Given the description of an element on the screen output the (x, y) to click on. 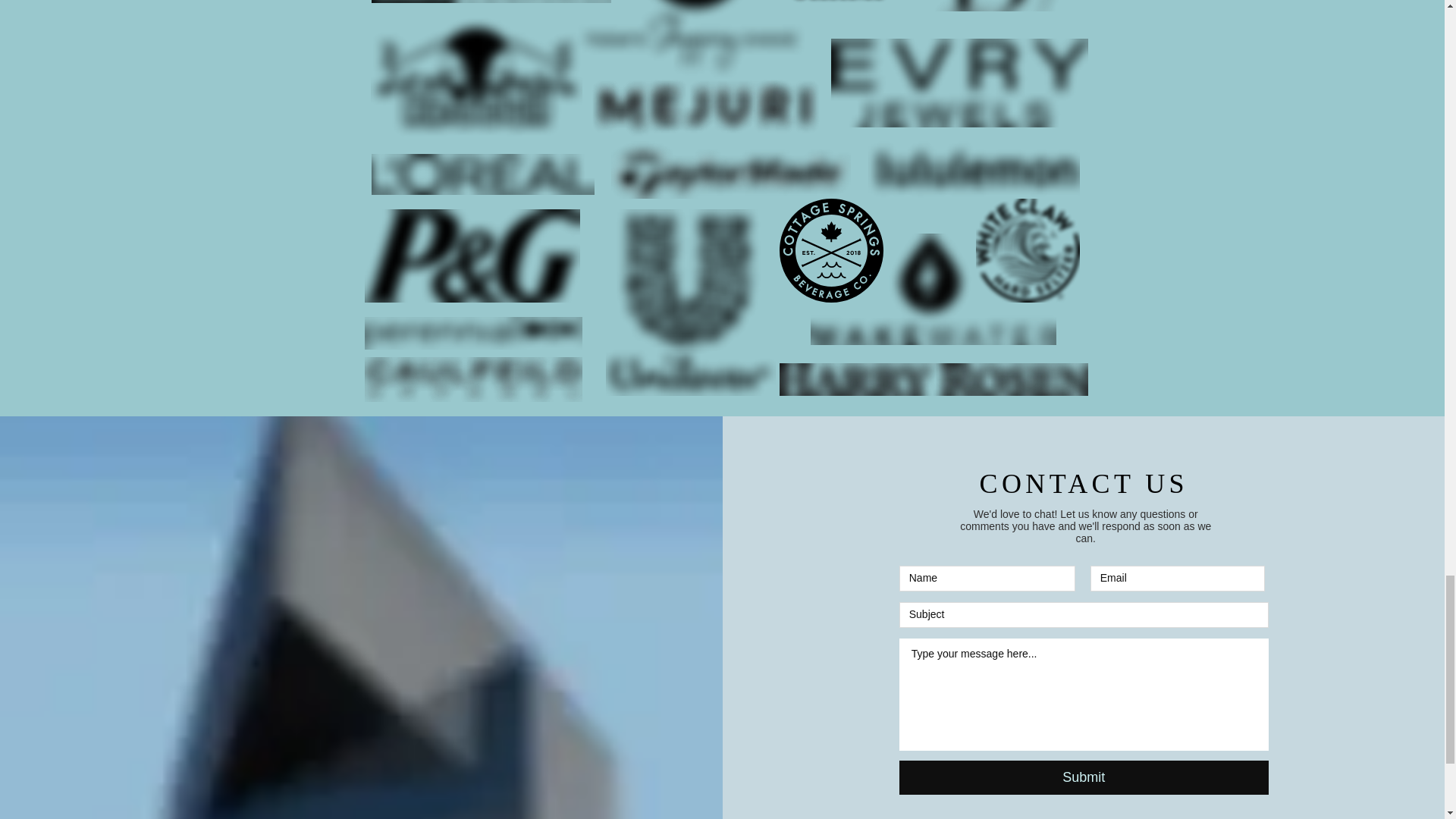
pglogo.png (471, 255)
95808d0e9d271f899d7401ec9dabb62e.png (474, 91)
image.png (842, 6)
image.png (959, 82)
Submit (1083, 777)
image.png (482, 173)
image.png (1026, 250)
unilever-logo-black-and-white.png (689, 302)
